Given the description of an element on the screen output the (x, y) to click on. 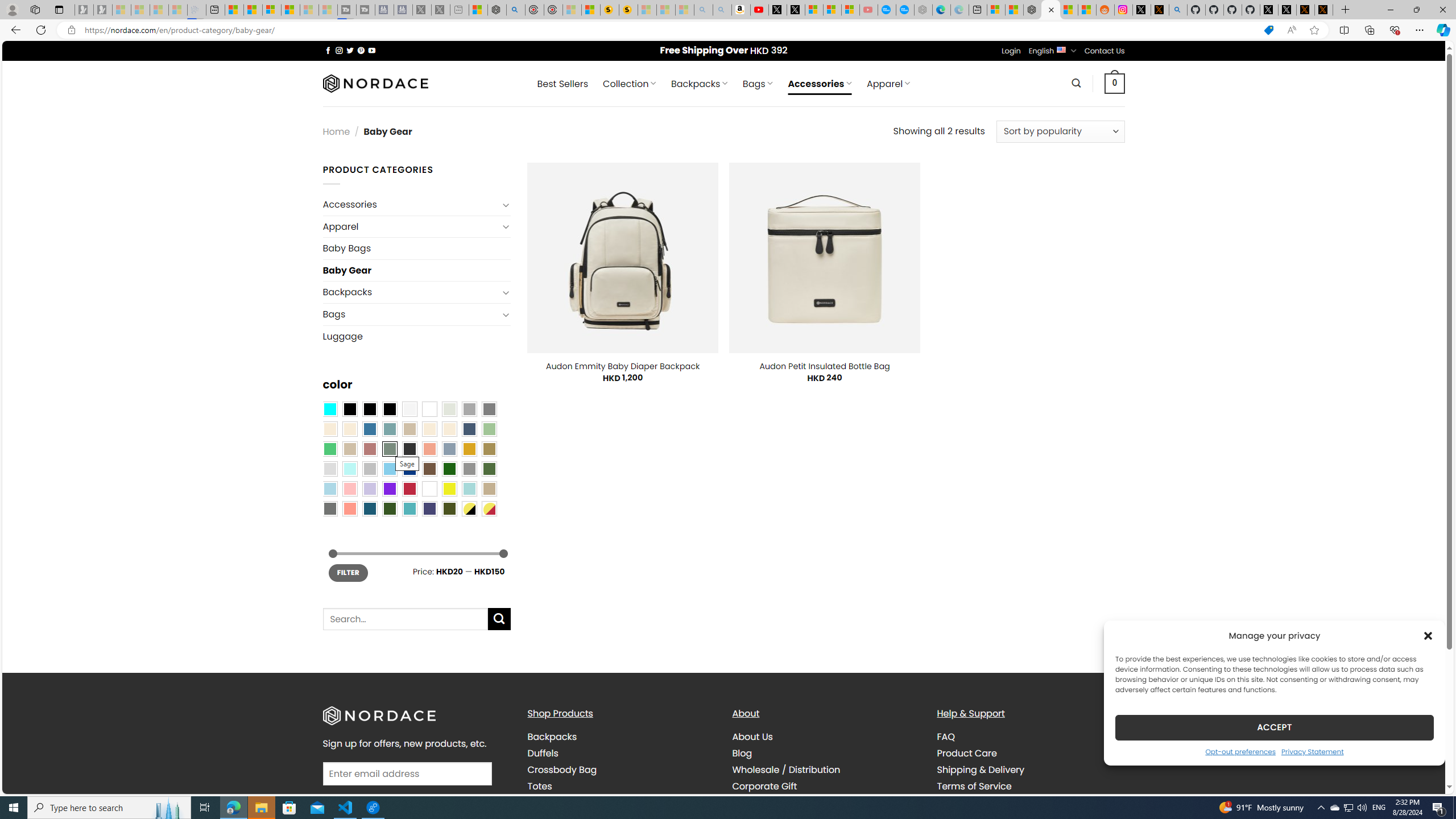
Rose (369, 448)
Light Purple (369, 488)
Duffels (543, 753)
Submit (499, 618)
Product Care (966, 753)
